Given the description of an element on the screen output the (x, y) to click on. 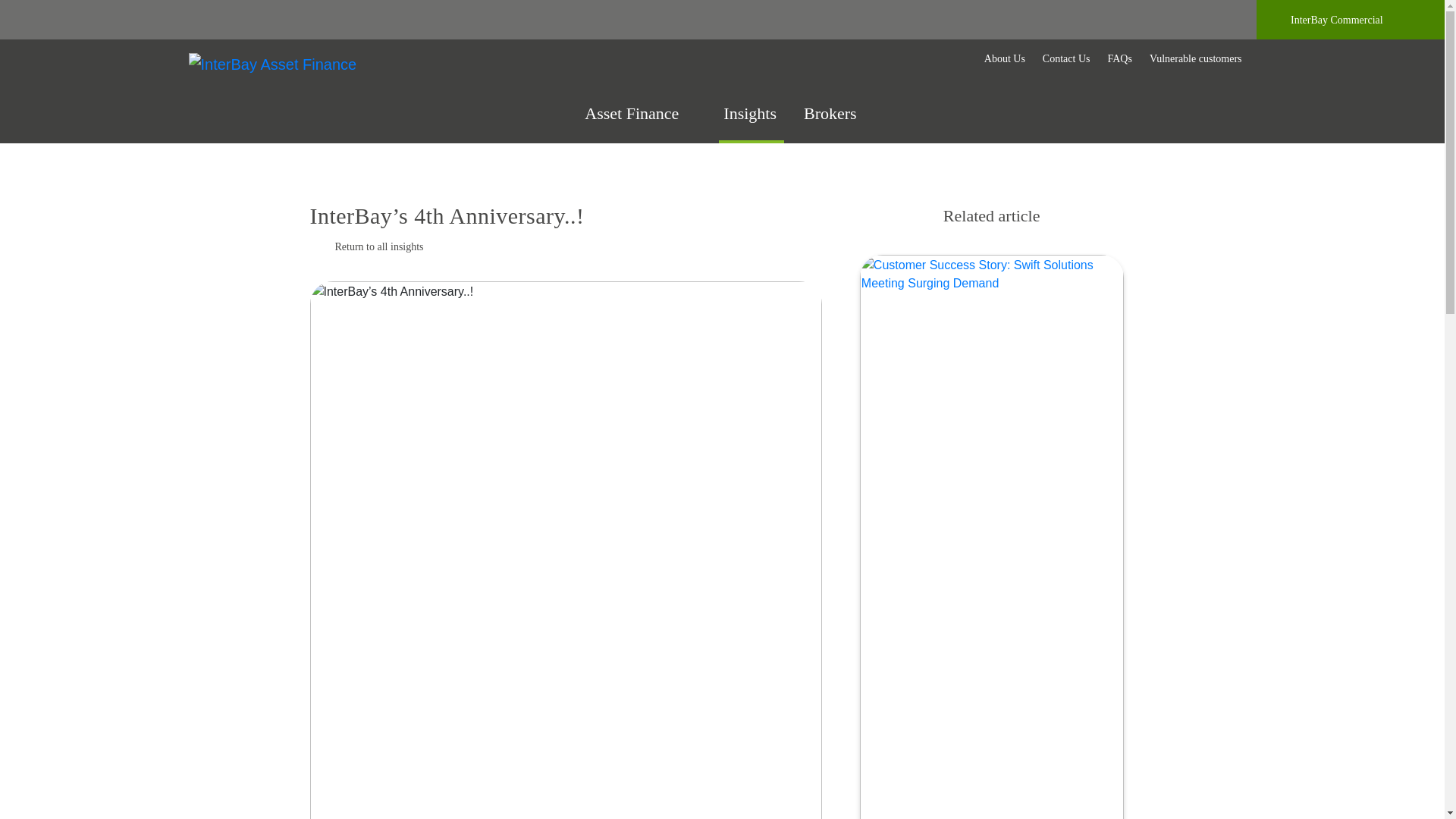
Asset Finance (641, 122)
InterBay Asset Finance (271, 64)
Insights (751, 123)
About Us (1004, 59)
Brokers (831, 123)
FAQs (1118, 59)
Brokers (831, 123)
Vulnerable customers (1195, 59)
Insights (751, 123)
Home (271, 62)
Contact Us (1066, 59)
